Given the description of an element on the screen output the (x, y) to click on. 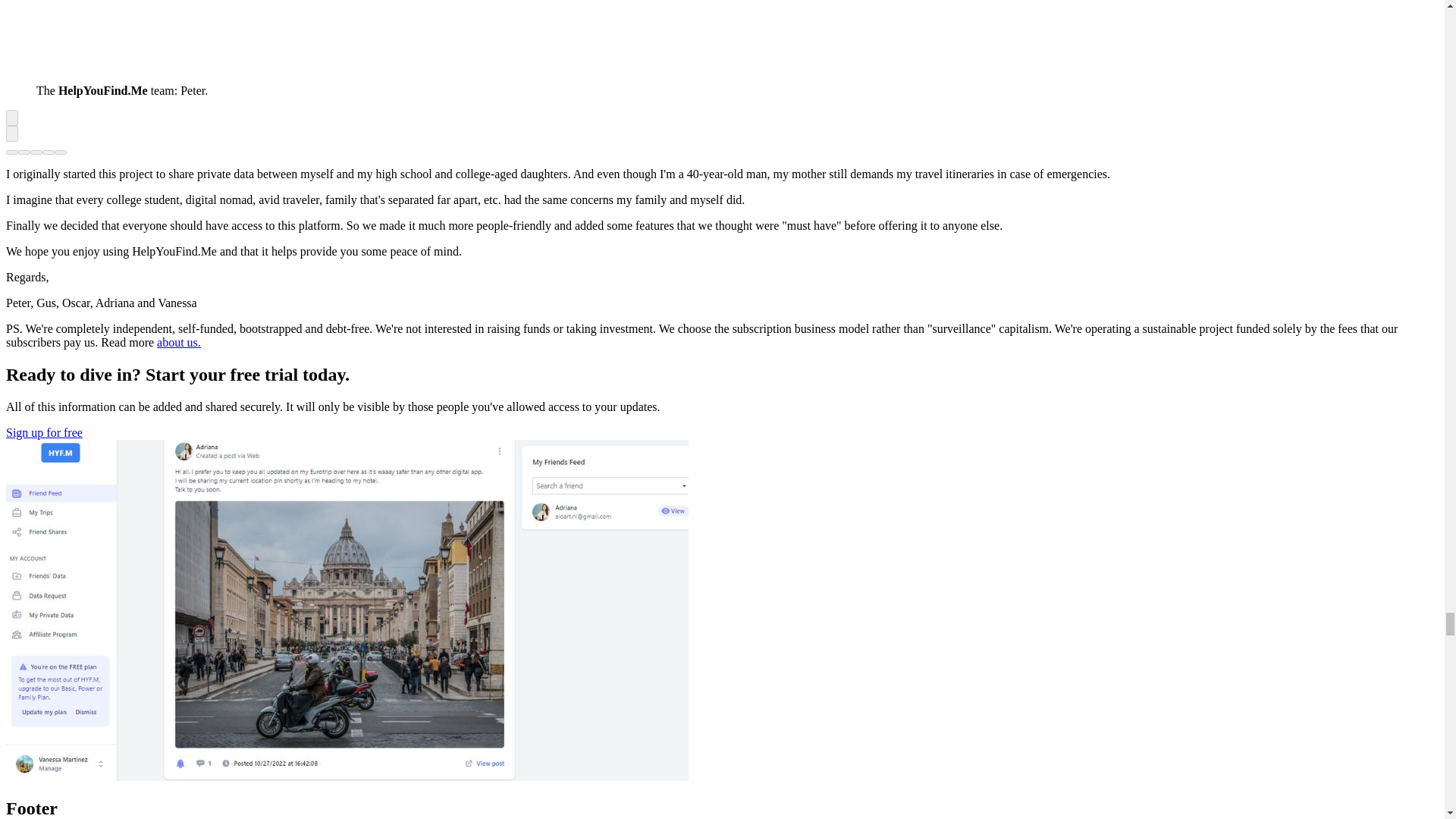
about us. (178, 341)
Sign up for free (43, 431)
